Given the description of an element on the screen output the (x, y) to click on. 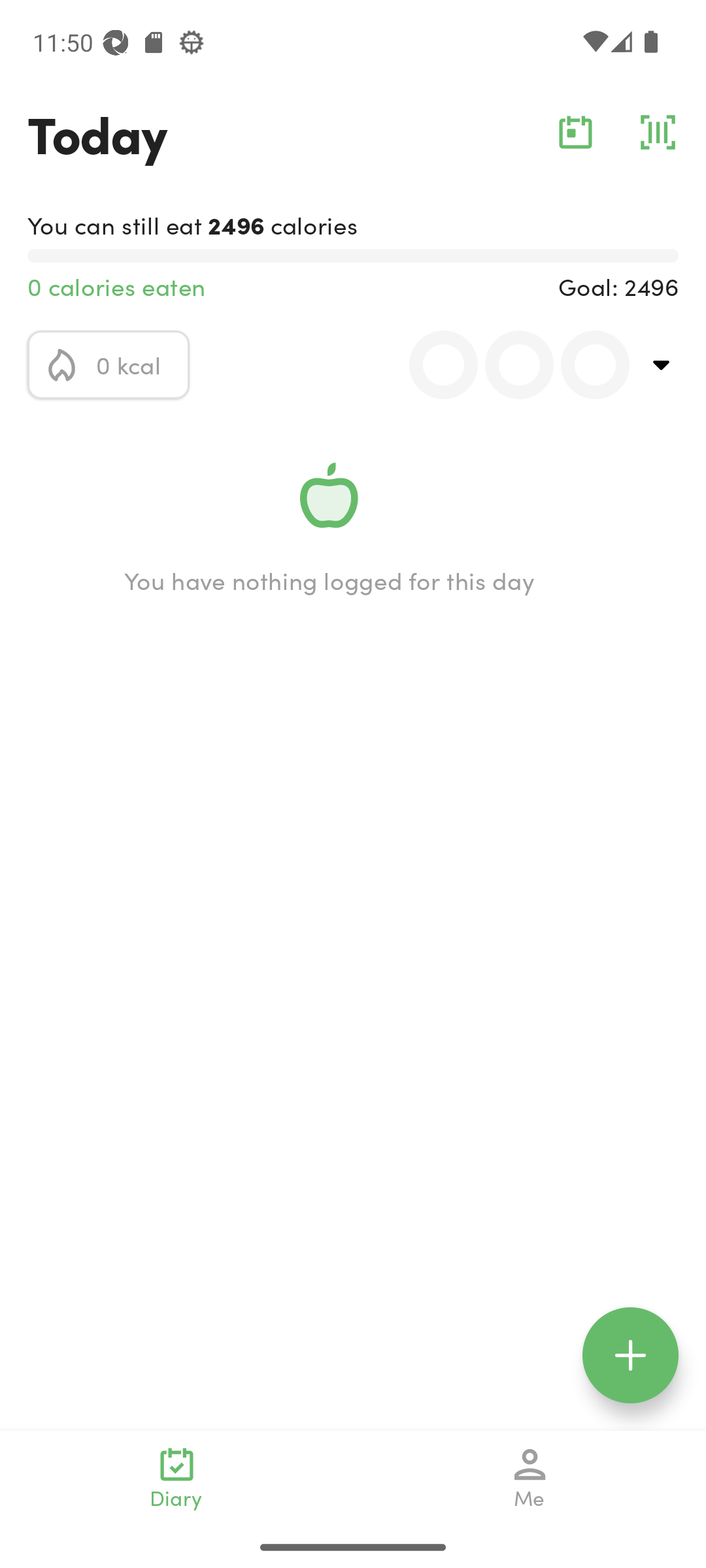
calendar_action (575, 132)
barcode_action (658, 132)
calorie_icon 0 kcal (108, 365)
0.0 0.0 0.0 (508, 365)
top_right_action (661, 365)
floating_action_icon (630, 1355)
Me navigation_icon (529, 1478)
